Given the description of an element on the screen output the (x, y) to click on. 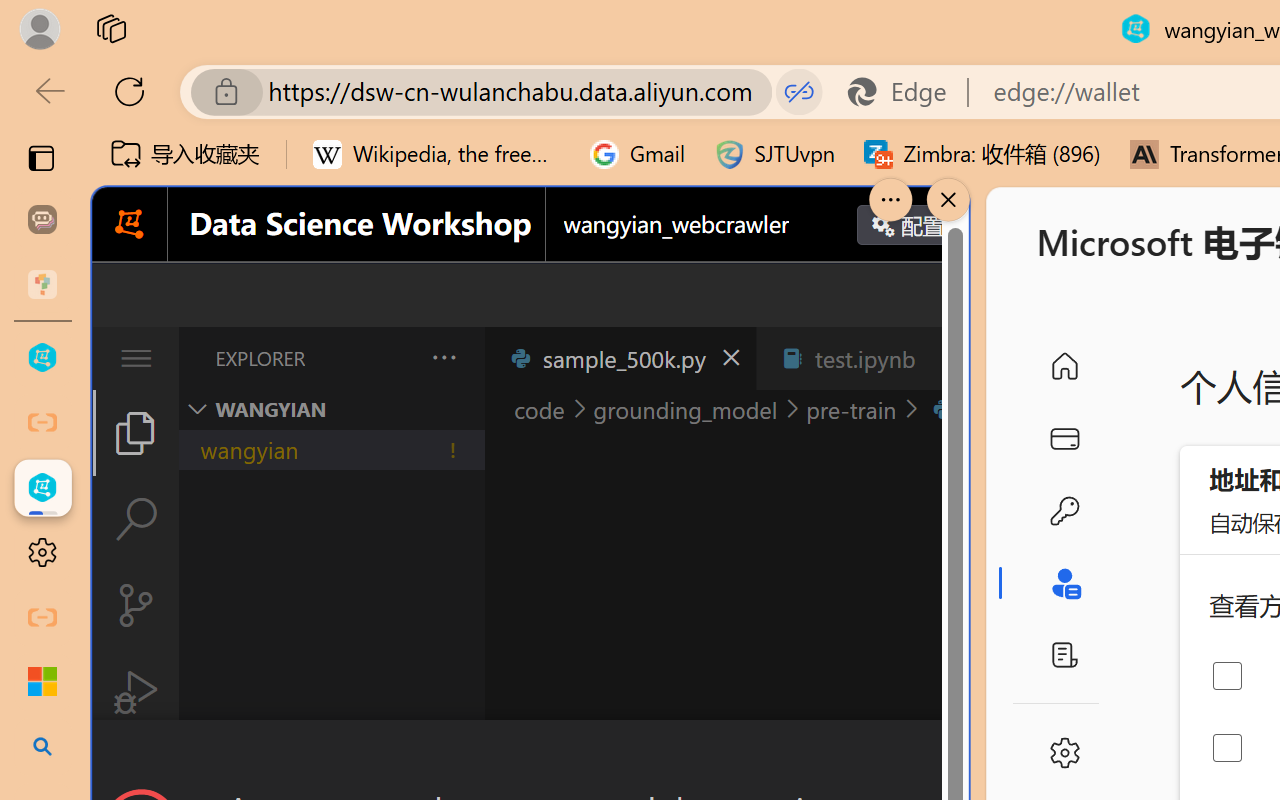
Wikipedia, the free encyclopedia (437, 154)
Application Menu (135, 358)
Explorer Section: wangyian (331, 409)
Explorer actions (391, 358)
